Given the description of an element on the screen output the (x, y) to click on. 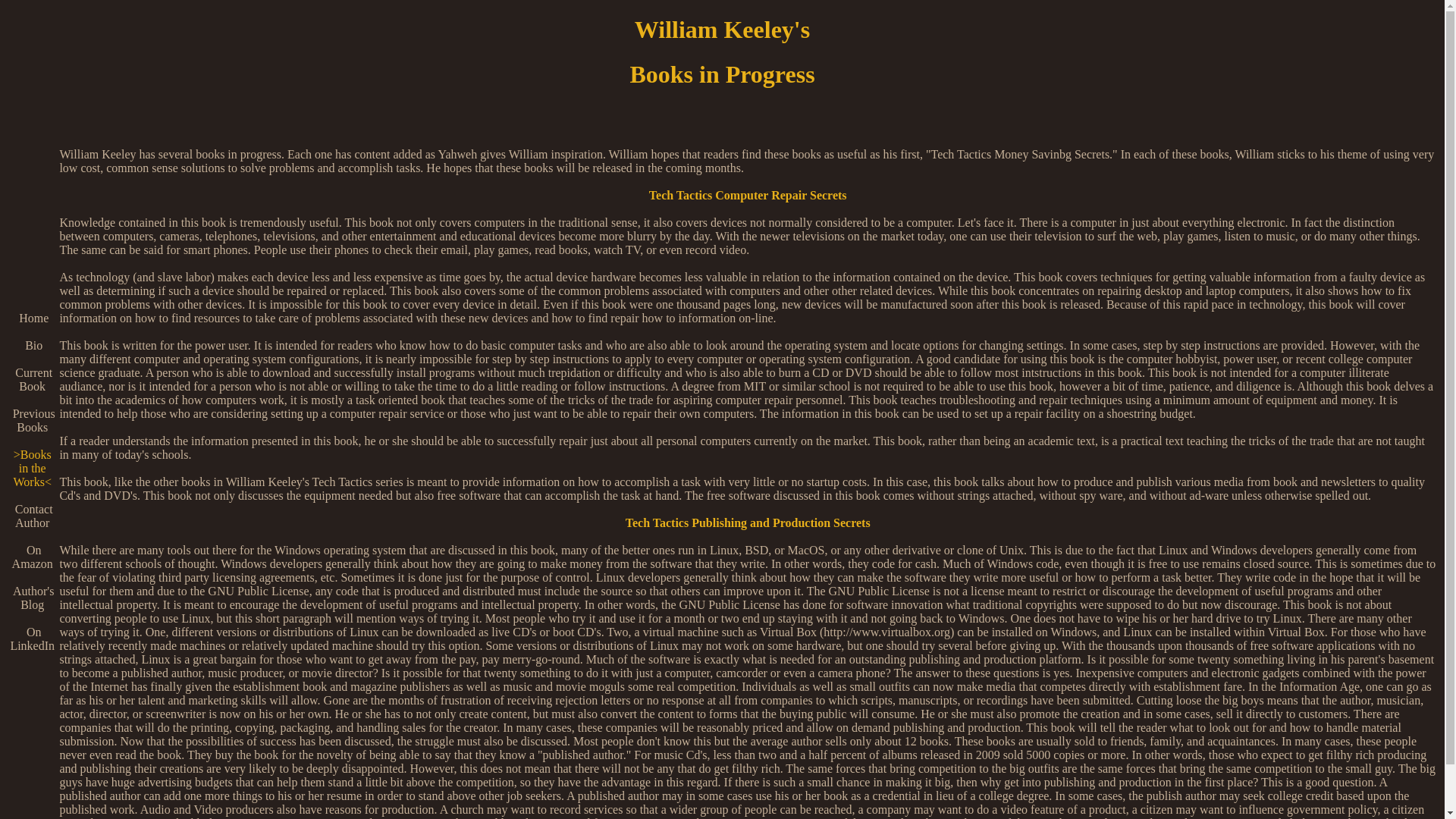
 On LinkedIn (32, 638)
 Bio (31, 345)
 Previous Books (32, 420)
 Current Book (31, 379)
 Home (32, 318)
 On Amazon (31, 556)
 Contact Author (31, 515)
 Author's Blog (32, 597)
